Given the description of an element on the screen output the (x, y) to click on. 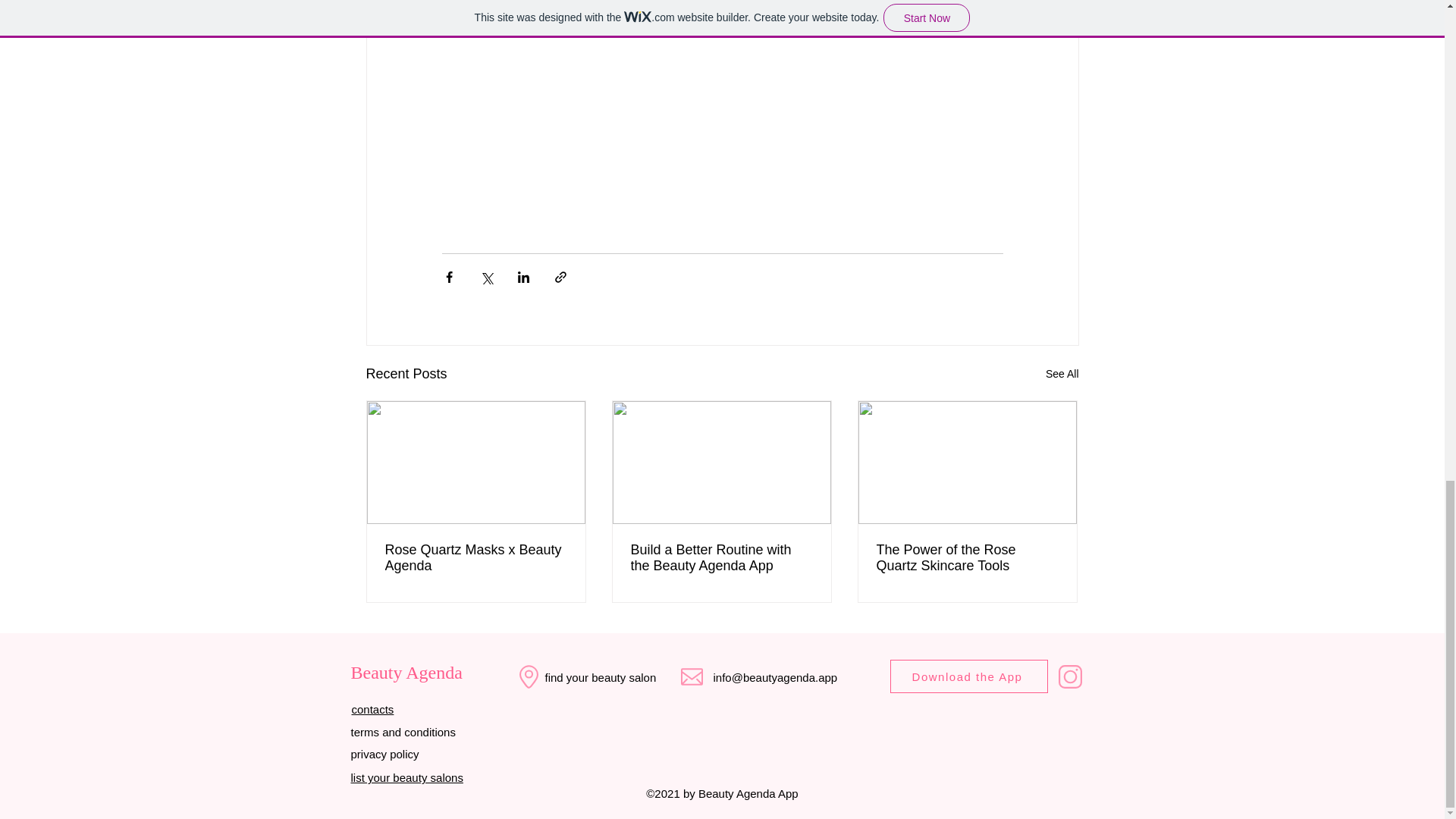
The Power of the Rose Quartz Skincare Tools (967, 558)
privacy policy (384, 753)
Beauty Agenda (405, 672)
Download the App (968, 676)
contacts (373, 708)
Rose Quartz Masks x Beauty Agenda (476, 558)
See All (1061, 373)
Build a Better Routine with the Beauty Agenda App (721, 558)
find your beauty salon (600, 676)
terms and conditions (402, 731)
